Given the description of an element on the screen output the (x, y) to click on. 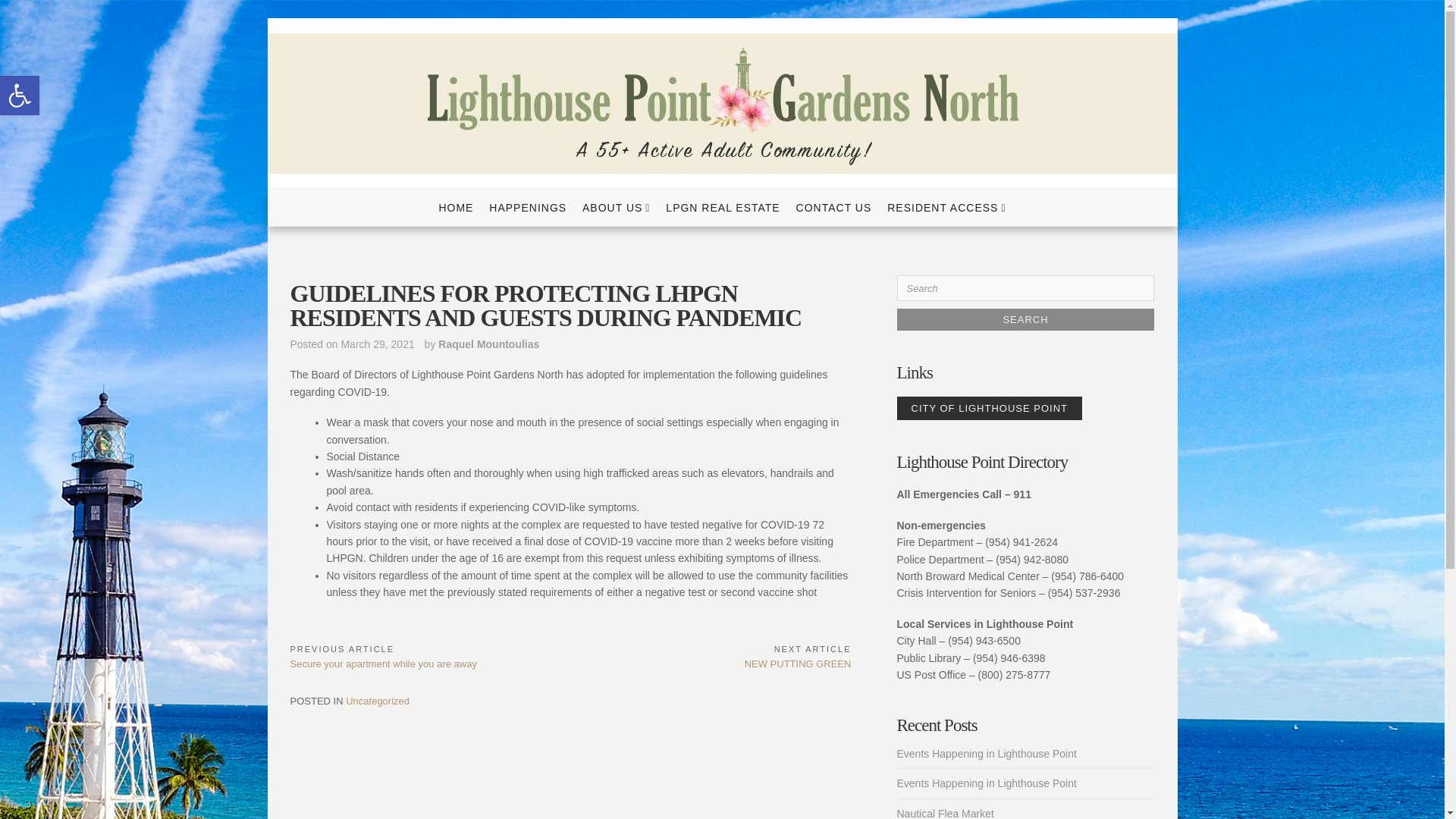
CITY OF LIGHTHOUSE POINT (988, 408)
March 29, 2021 (376, 344)
RESIDENT ACCESS (945, 207)
Search (1025, 319)
Search (1025, 319)
Events Happening in Lighthouse Point (985, 753)
Accessibility Tools (19, 95)
CONTACT US (833, 207)
HAPPENINGS (527, 207)
Uncategorized (377, 700)
Nautical Flea Market (944, 813)
HOME (455, 207)
Accessibility Tools (19, 95)
